Given the description of an element on the screen output the (x, y) to click on. 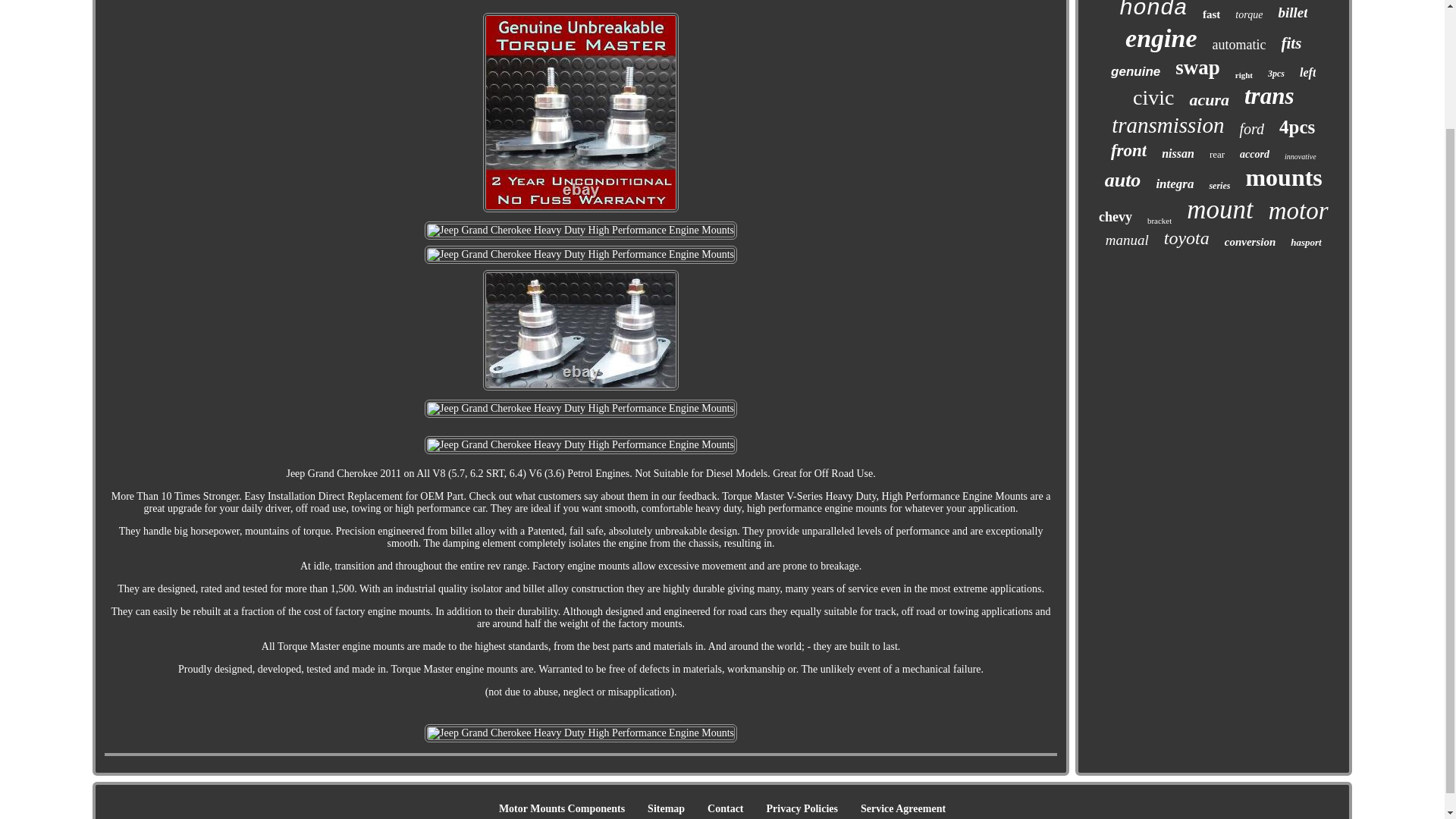
civic (1152, 97)
accord (1254, 154)
automatic (1239, 44)
swap (1197, 67)
genuine (1135, 71)
front (1128, 150)
series (1219, 185)
honda (1153, 10)
chevy (1115, 217)
